Given the description of an element on the screen output the (x, y) to click on. 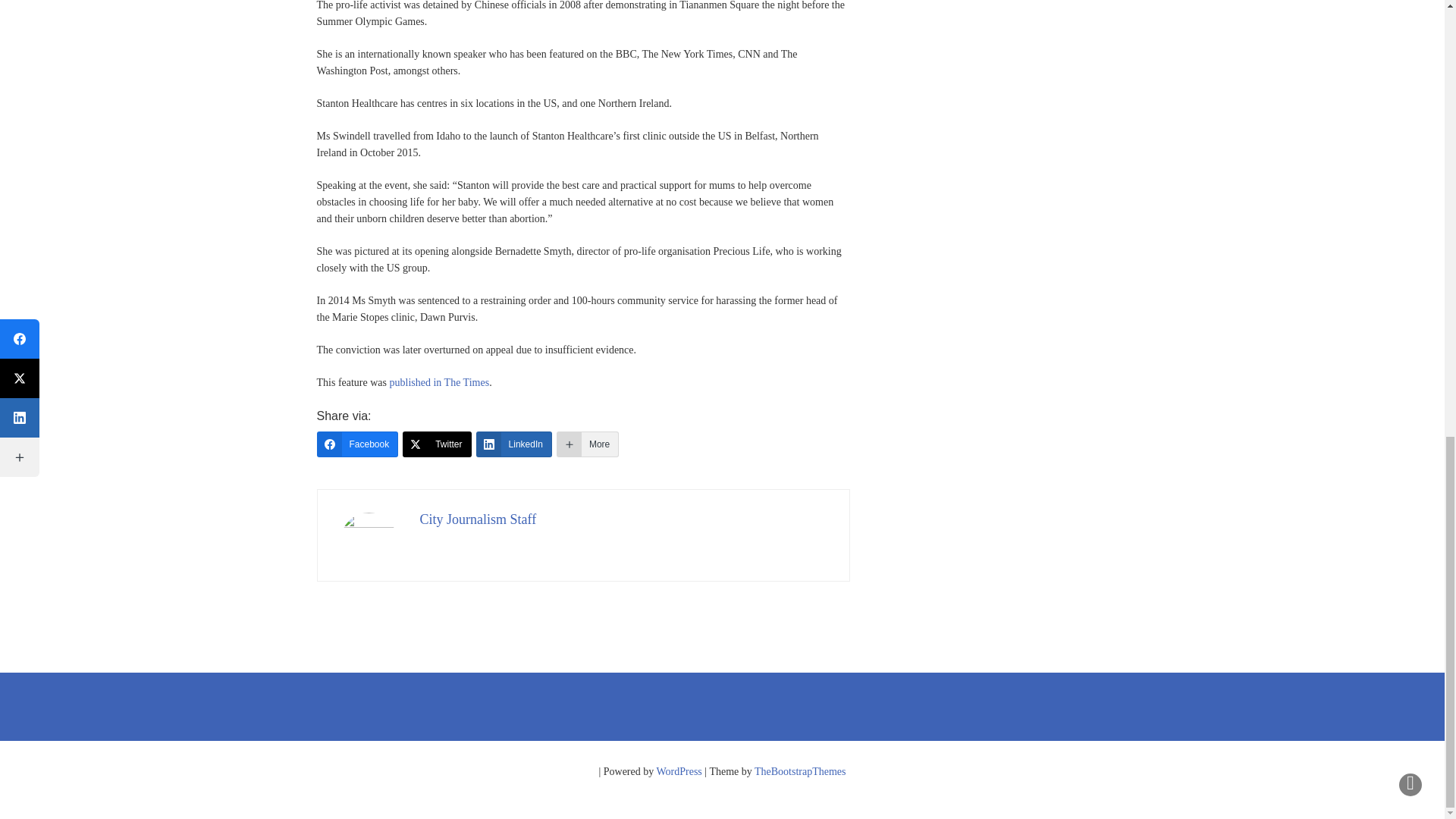
published in The Times (439, 382)
City Journalism Staff (478, 519)
Twitter (436, 444)
Facebook (357, 444)
More (587, 444)
LinkedIn (513, 444)
